Given the description of an element on the screen output the (x, y) to click on. 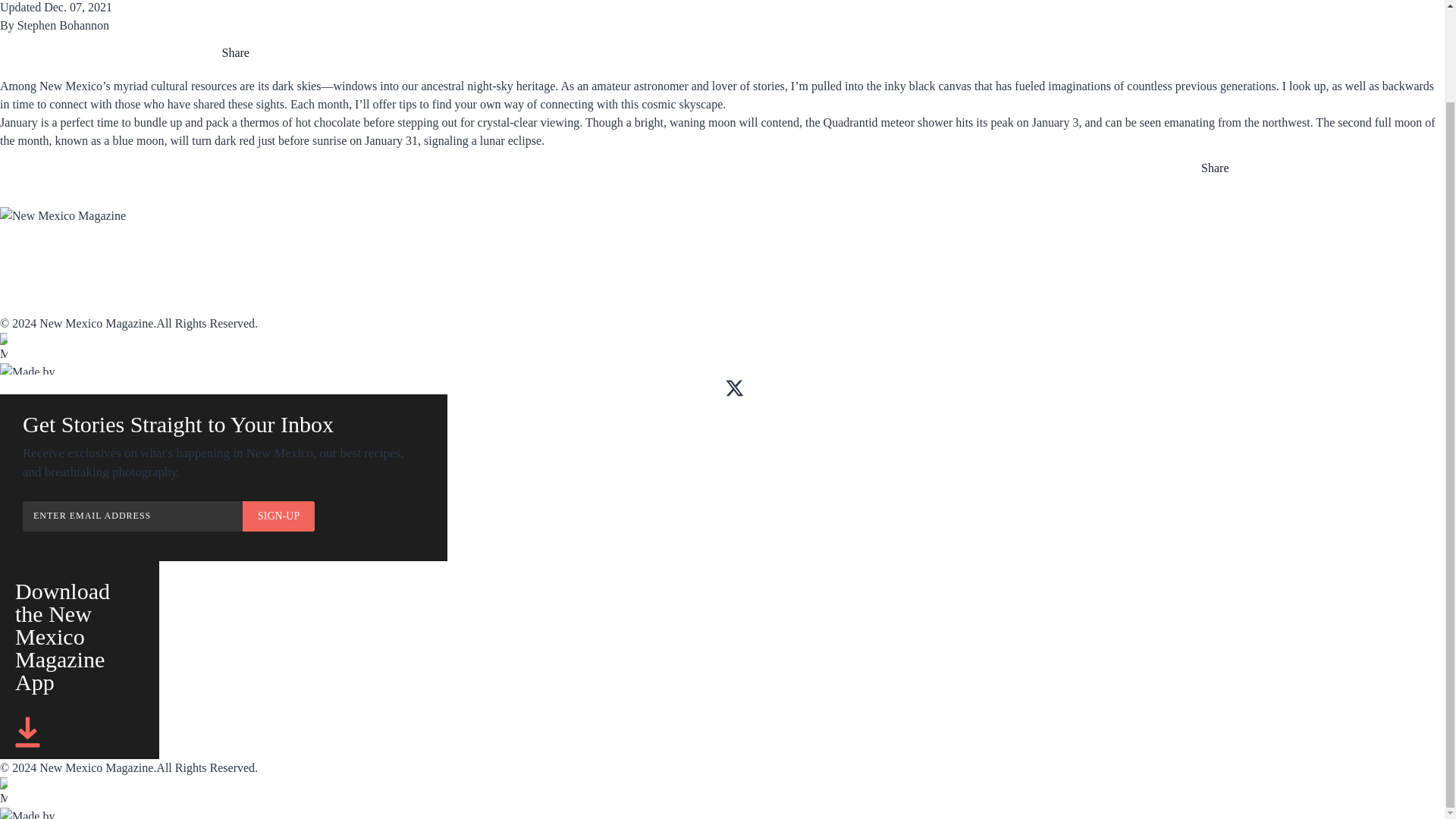
About Us (25, 287)
Privacy Policy (333, 304)
App (154, 254)
Subscribe (28, 254)
Sitemap (312, 287)
Store (598, 254)
Advertise (464, 254)
Contact Us (32, 304)
Archive (313, 254)
Visit our Twitter page (734, 388)
